Given the description of an element on the screen output the (x, y) to click on. 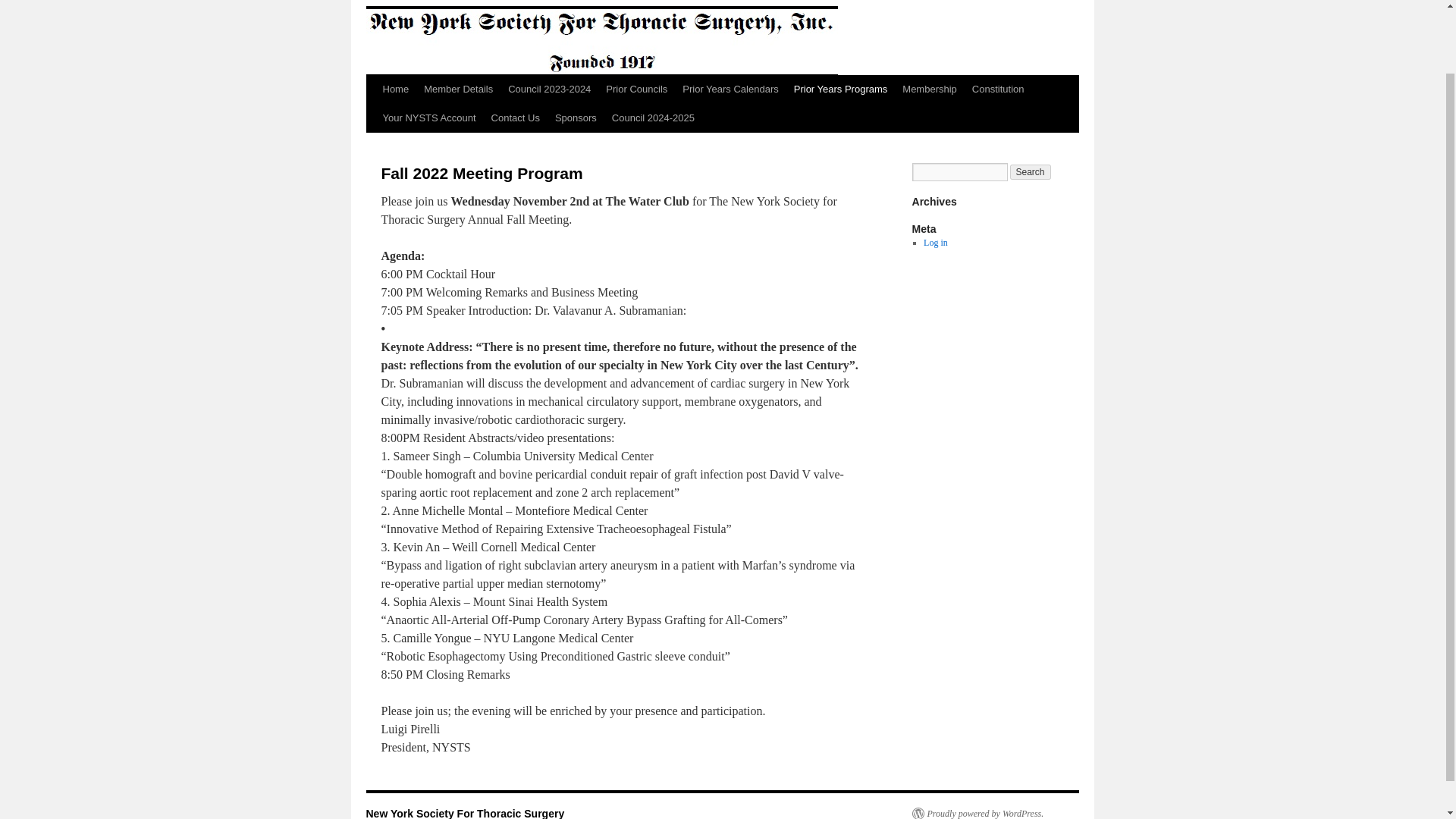
Prior Years Calendars (730, 89)
Prior Years Programs (840, 89)
Constitution (997, 89)
Your NYSTS Account (428, 118)
Prior Councils (636, 89)
Member Details (458, 89)
Home (395, 89)
Search (1030, 171)
Council 2023-2024 (549, 89)
Membership (929, 89)
